Given the description of an element on the screen output the (x, y) to click on. 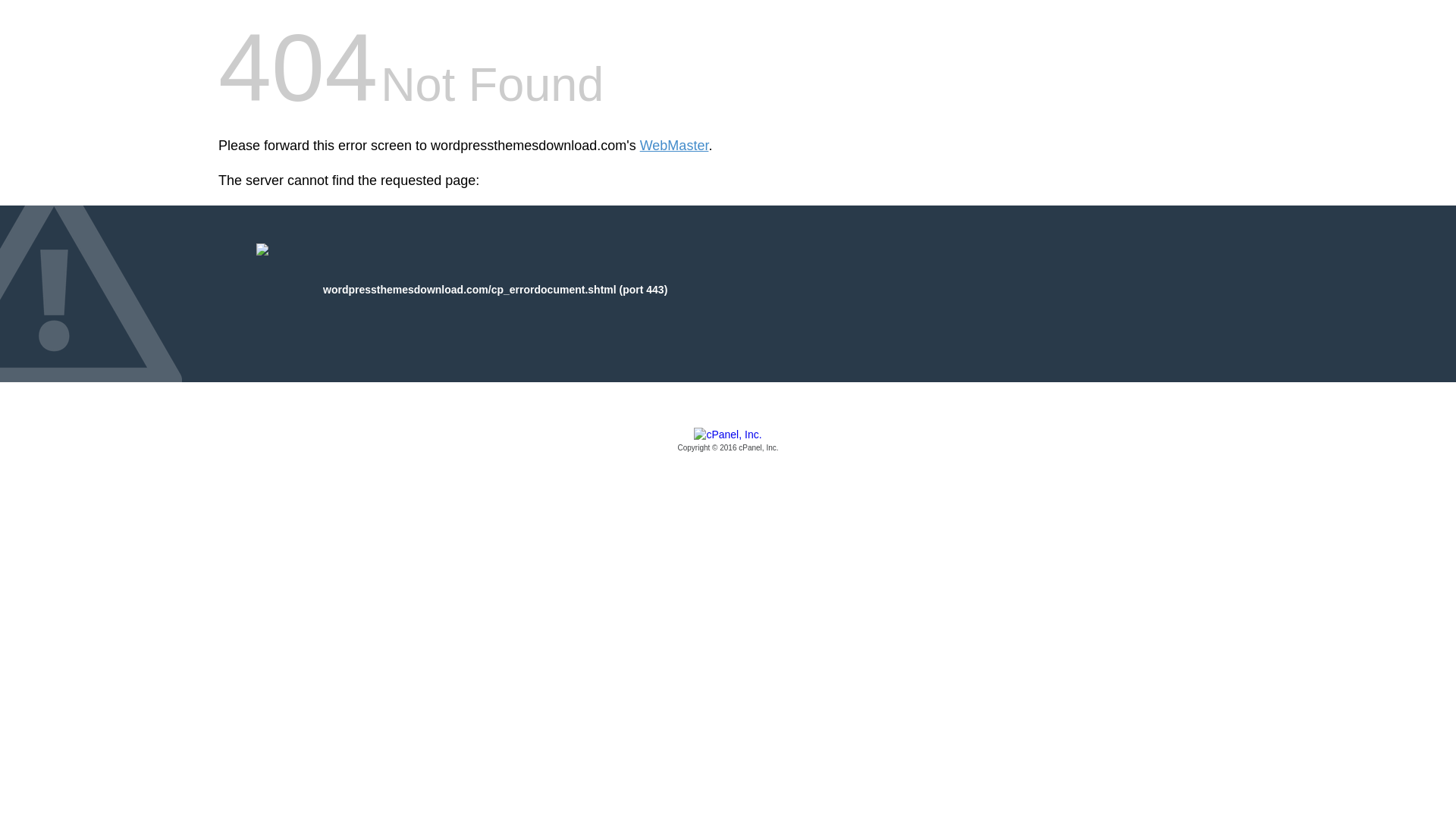
WebMaster (674, 145)
cPanel, Inc. (727, 440)
